Given the description of an element on the screen output the (x, y) to click on. 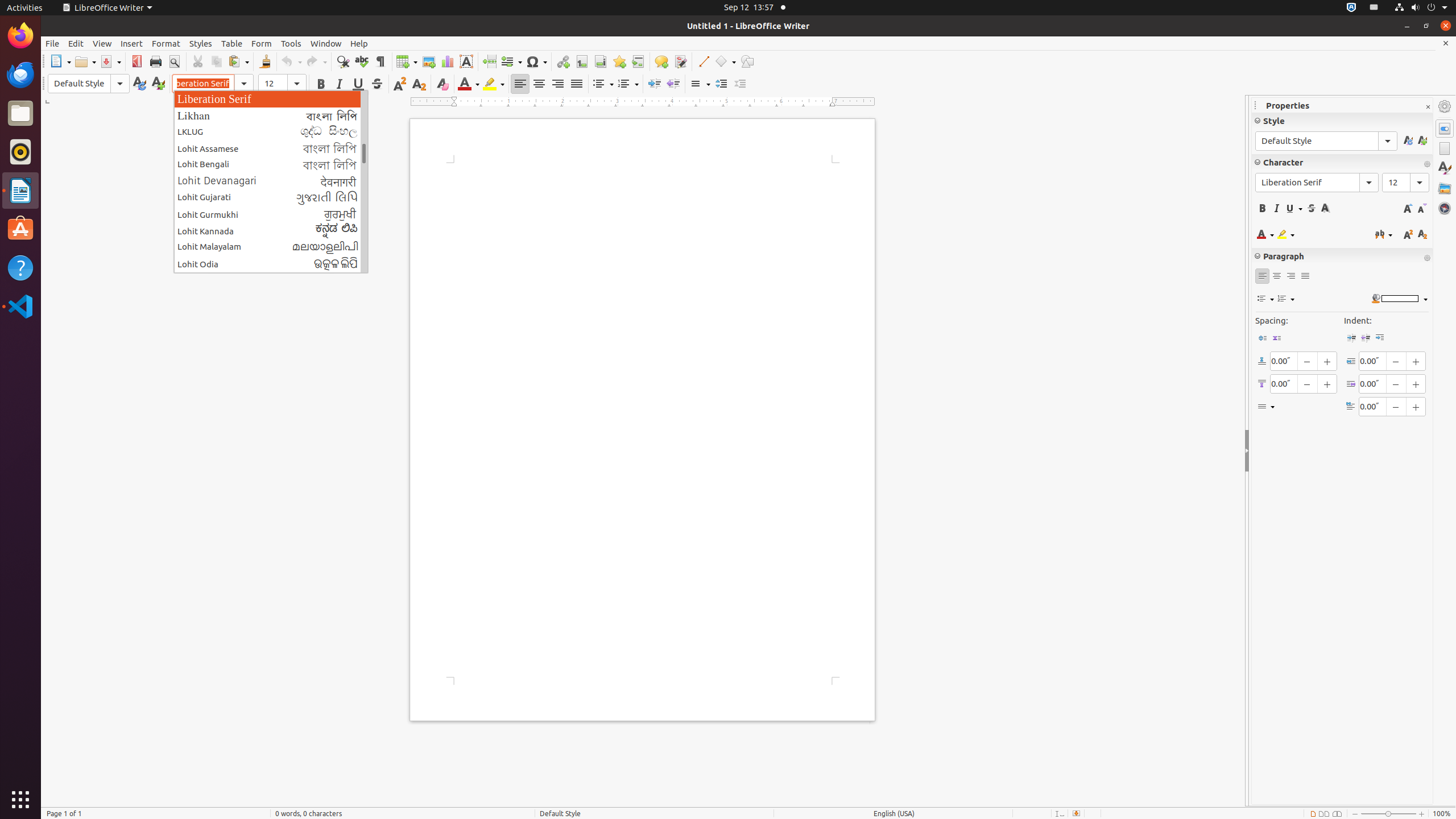
Clone Element type: push-button (264, 61)
File Element type: menu (51, 43)
Superscript Element type: toggle-button (399, 83)
Undo Element type: push-button (290, 61)
Liberation Serif Element type: list-item (270, 98)
